Given the description of an element on the screen output the (x, y) to click on. 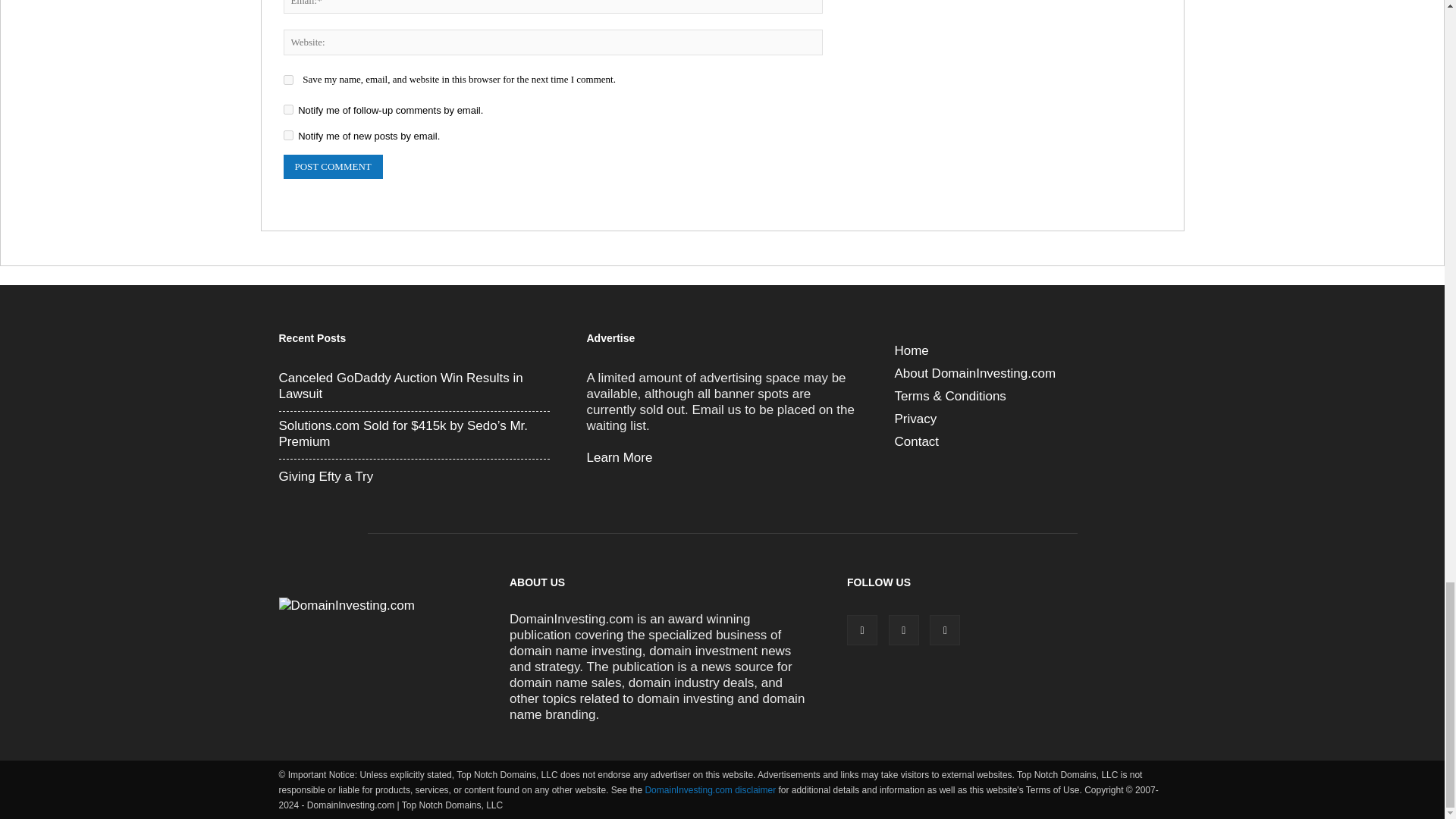
yes (288, 80)
Post Comment (332, 166)
subscribe (288, 109)
subscribe (288, 135)
